Given the description of an element on the screen output the (x, y) to click on. 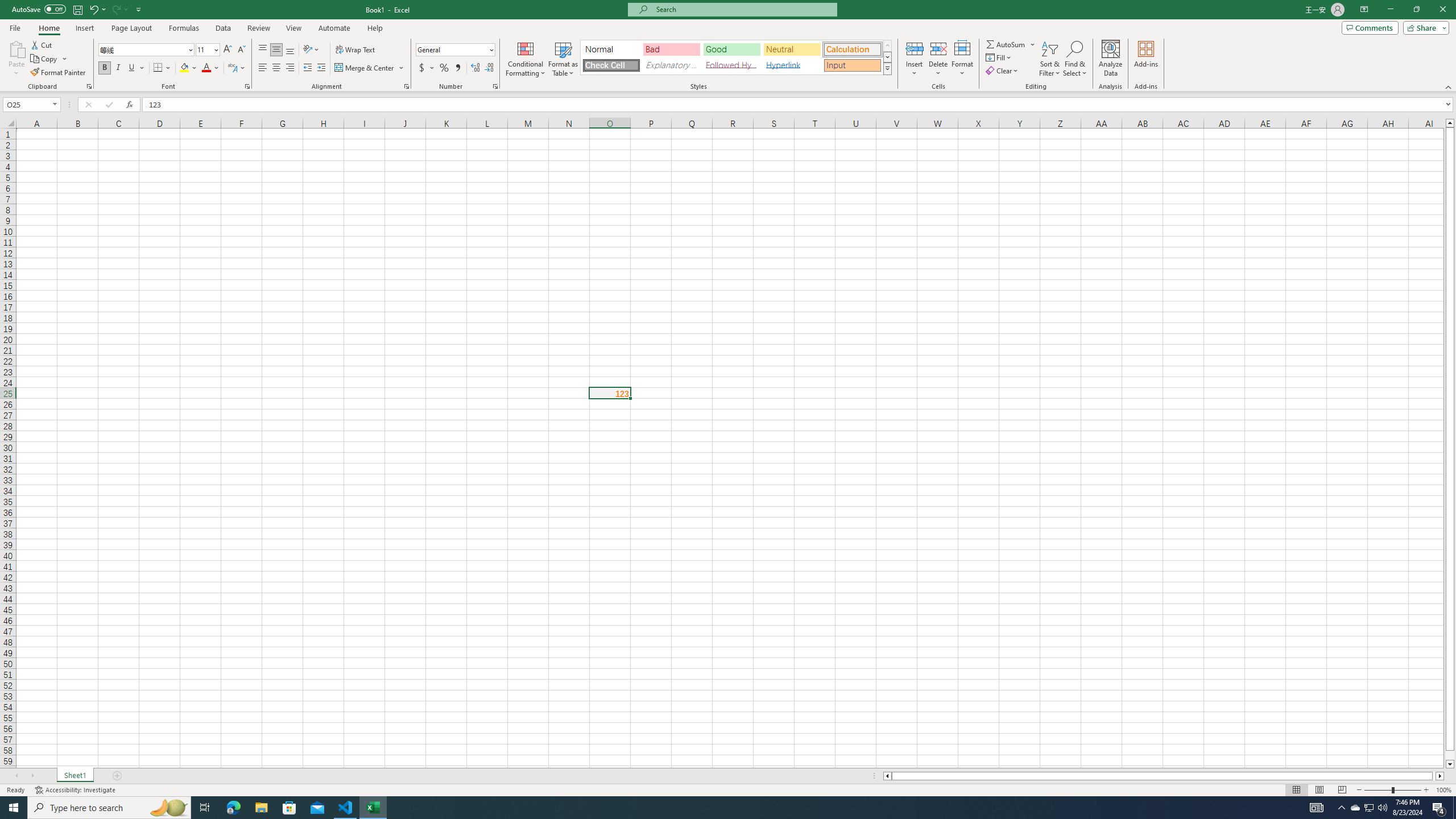
Accessibility Checker Accessibility: Investigate (76, 790)
Decrease Font Size (240, 49)
Delete (938, 58)
Align Right (290, 67)
Align Left (262, 67)
